Given the description of an element on the screen output the (x, y) to click on. 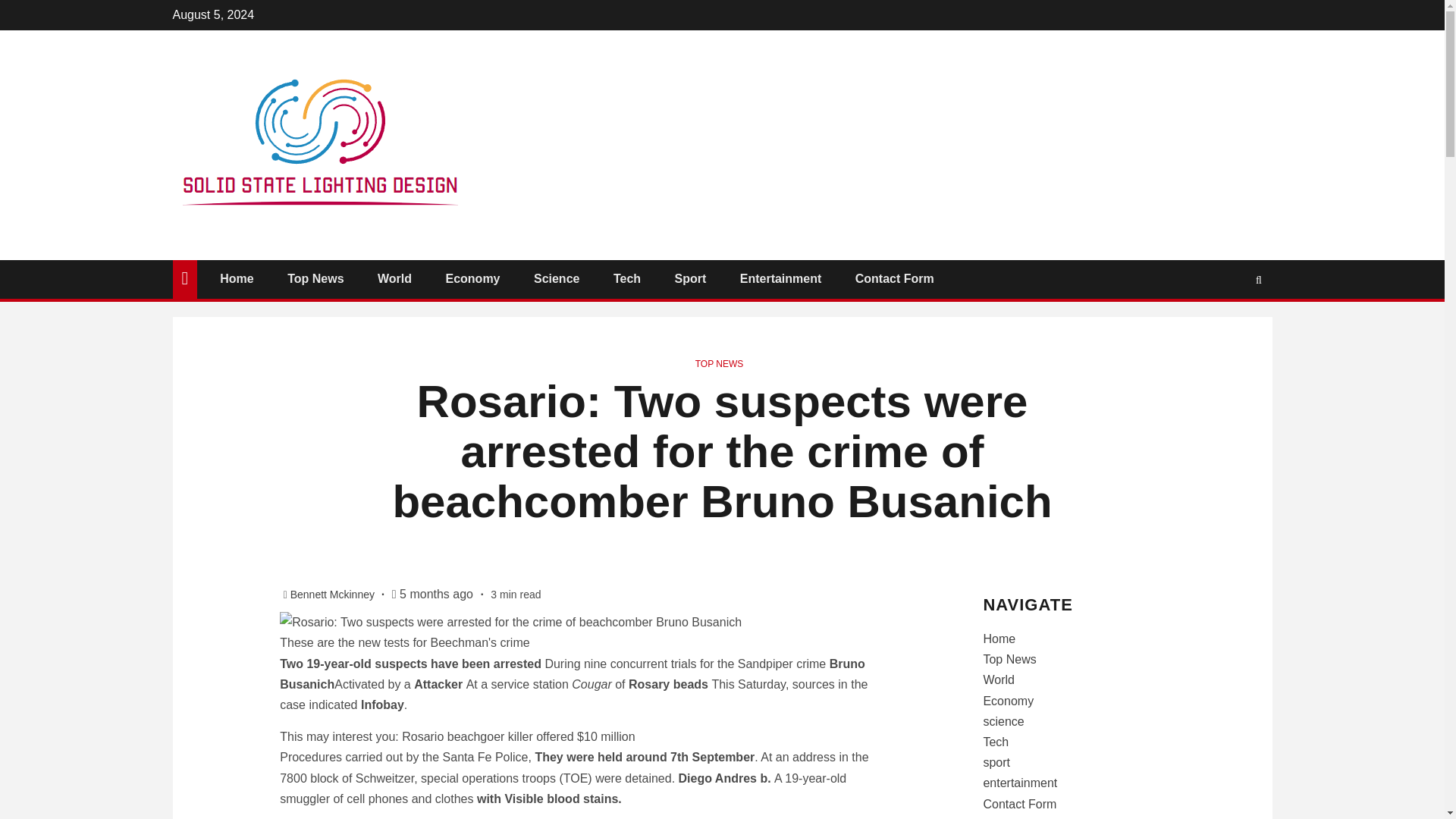
Search (1229, 325)
Home (236, 278)
World (394, 278)
Economy (472, 278)
Search (1258, 279)
World (998, 679)
Top News (1008, 658)
Home (998, 638)
Science (556, 278)
Top News (314, 278)
TOP NEWS (719, 363)
Contact Form (895, 278)
Bennett Mckinney (333, 594)
Entertainment (780, 278)
